Given the description of an element on the screen output the (x, y) to click on. 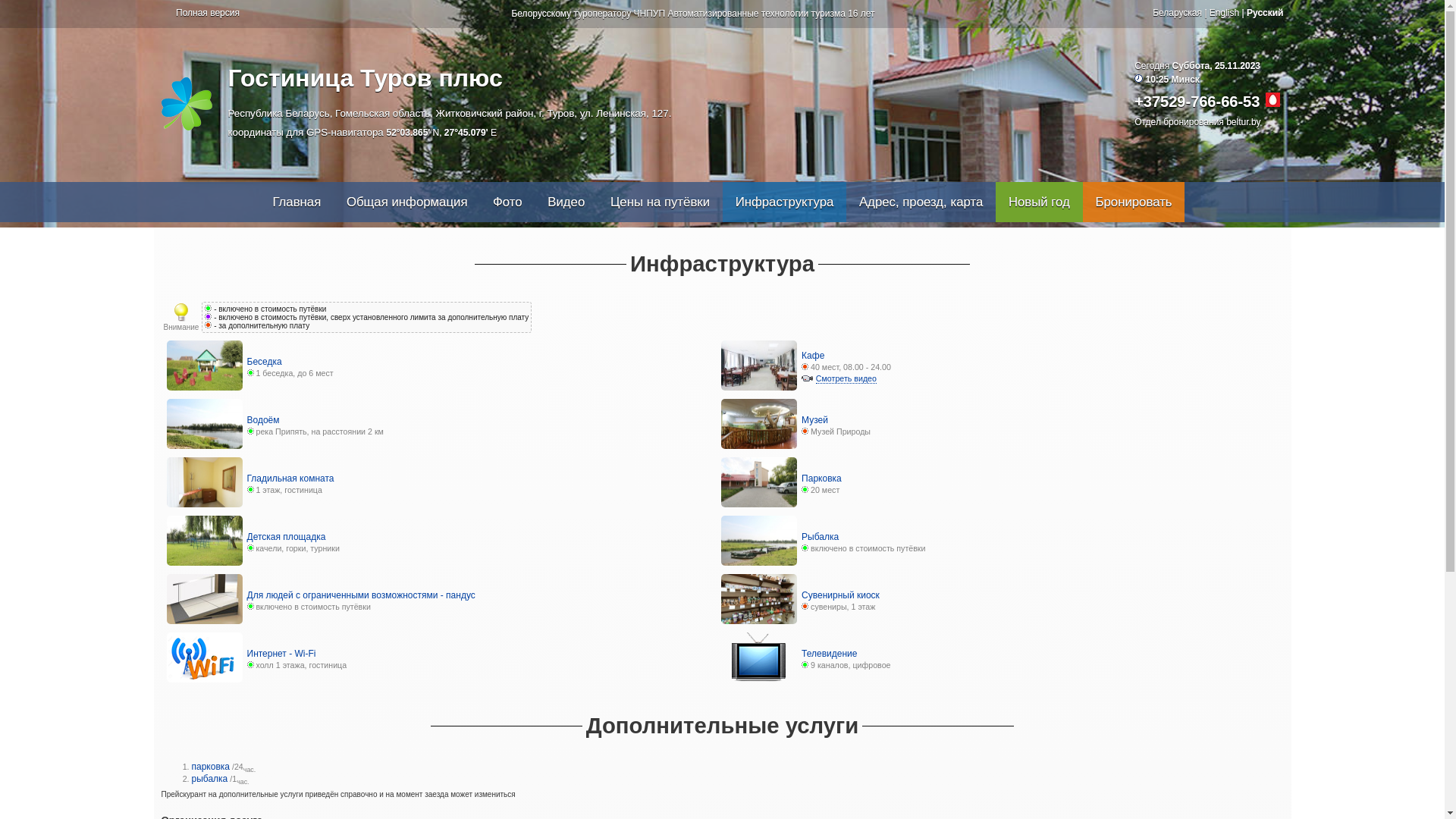
+37529-766-66-53 Element type: text (1196, 101)
English Element type: text (1224, 12)
